Given the description of an element on the screen output the (x, y) to click on. 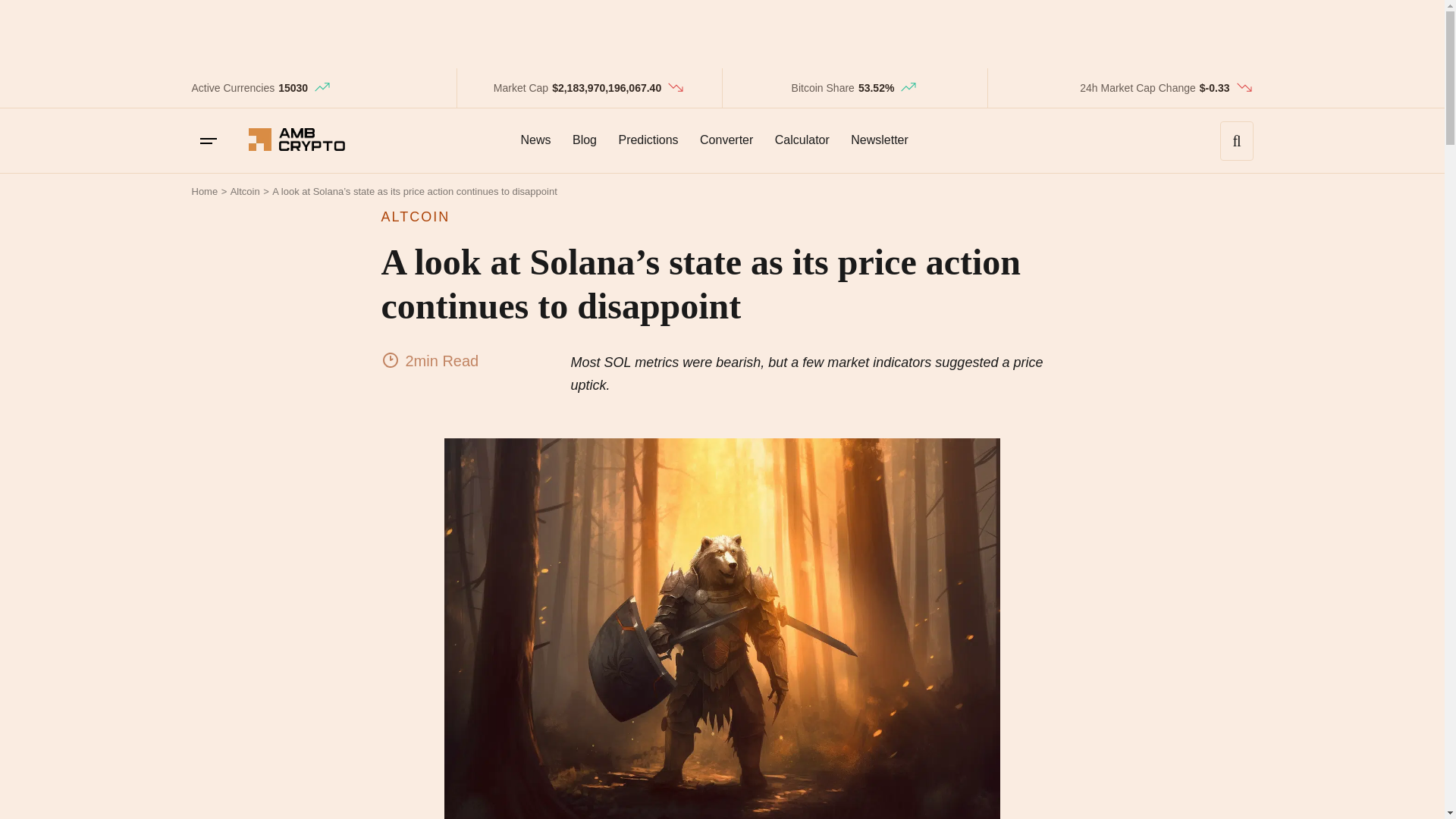
Altcoin (245, 191)
Home (203, 191)
News (535, 139)
Newsletter (879, 139)
Home (203, 191)
Converter (725, 139)
ALTCOIN (721, 216)
Blog (584, 139)
Predictions (647, 139)
Calculator (801, 139)
